Given the description of an element on the screen output the (x, y) to click on. 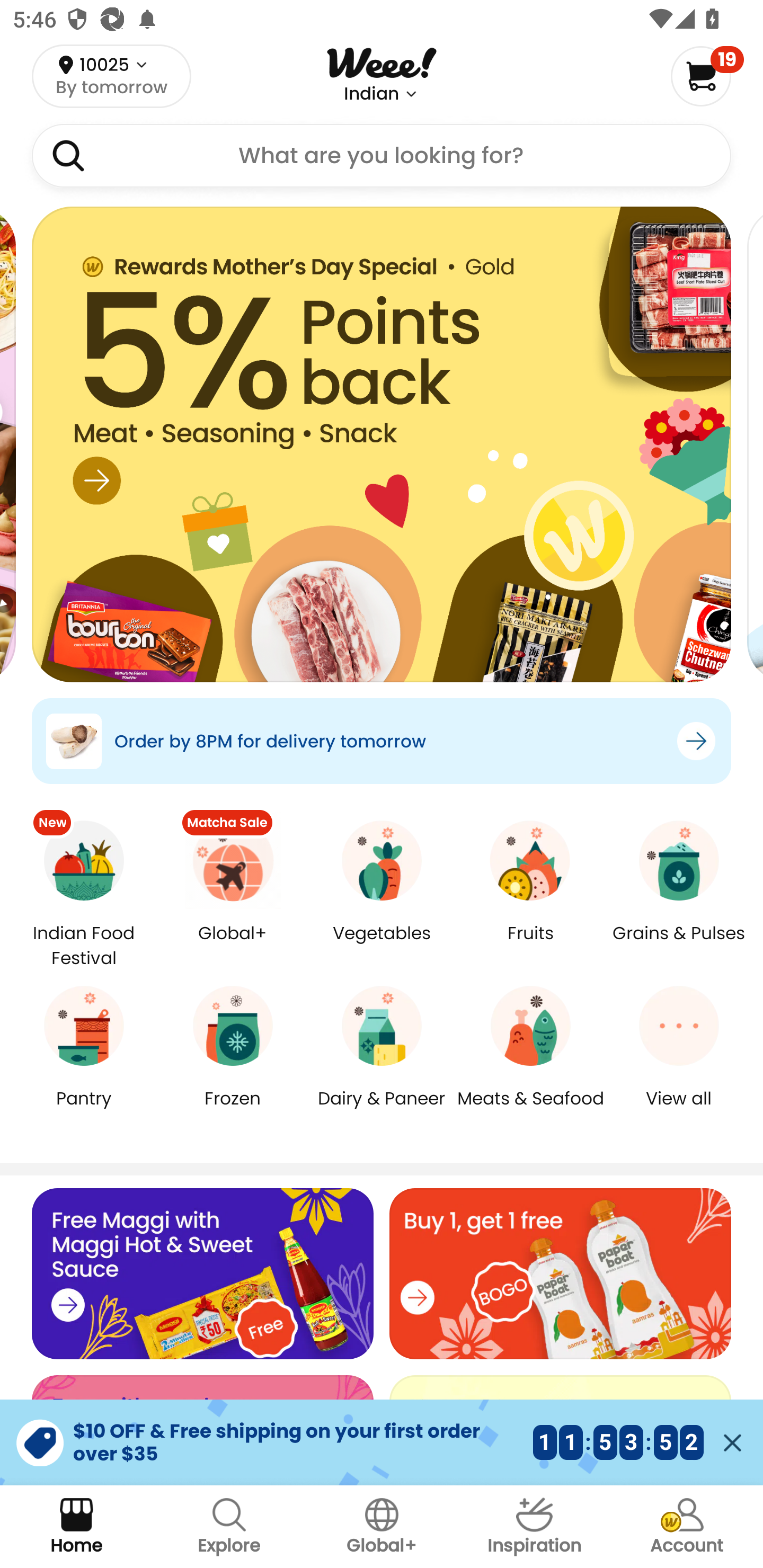
10025 By tomorrow (111, 75)
19 (706, 75)
Indian (371, 93)
What are you looking for? (381, 155)
Order by 8PM for delivery tomorrow (381, 740)
Indian Food Festival (83, 945)
Global+ (232, 946)
Vegetables (381, 946)
Fruits (530, 946)
Grains & Pulses (678, 946)
Pantry (83, 1111)
Frozen (232, 1111)
Dairy & Paneer (381, 1111)
Meats & Seafood (530, 1111)
View all (678, 1111)
Home (76, 1526)
Explore (228, 1526)
Global+ (381, 1526)
Inspiration (533, 1526)
Account (686, 1526)
